Given the description of an element on the screen output the (x, y) to click on. 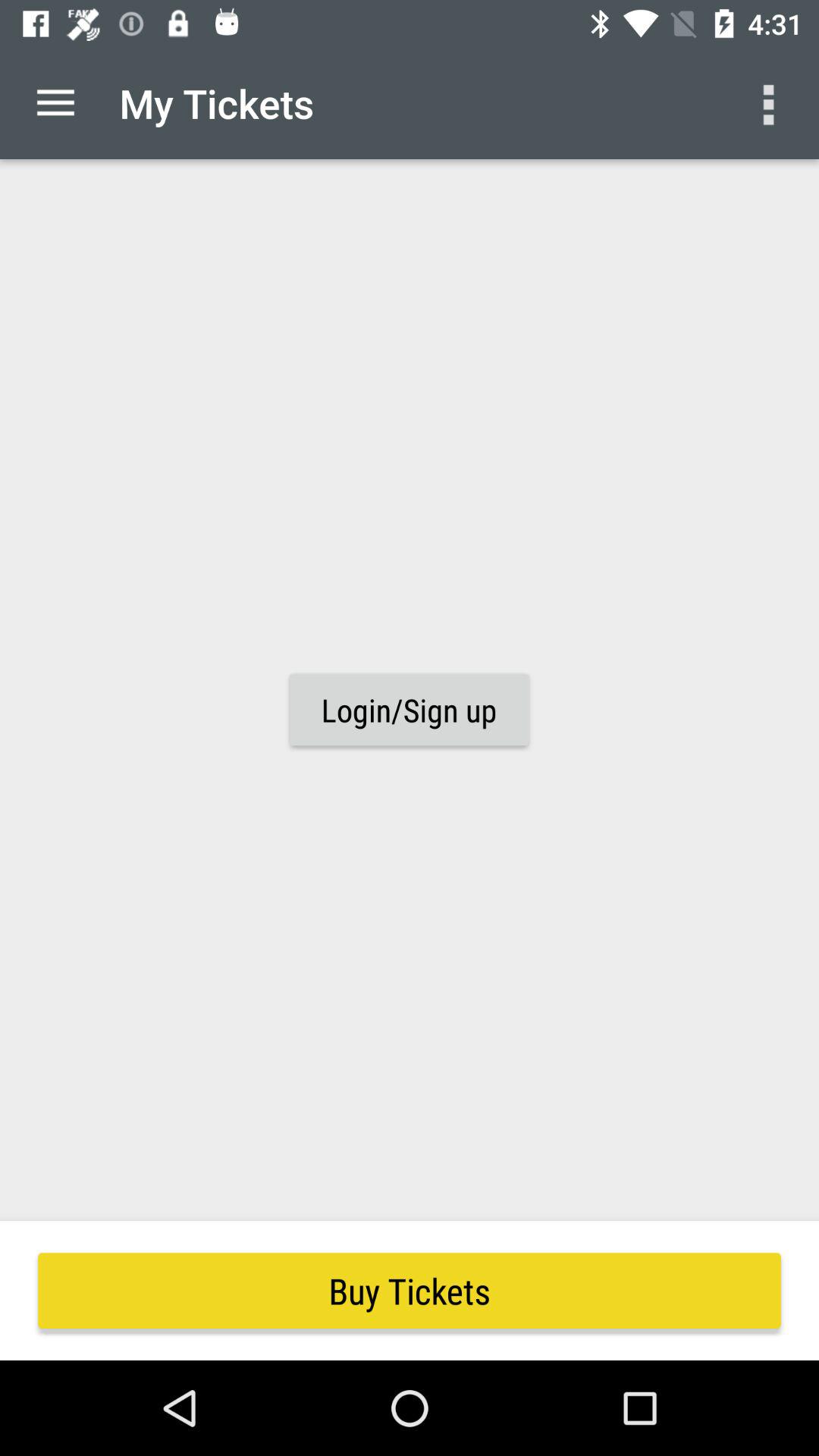
tap the item next to the my tickets icon (55, 103)
